Given the description of an element on the screen output the (x, y) to click on. 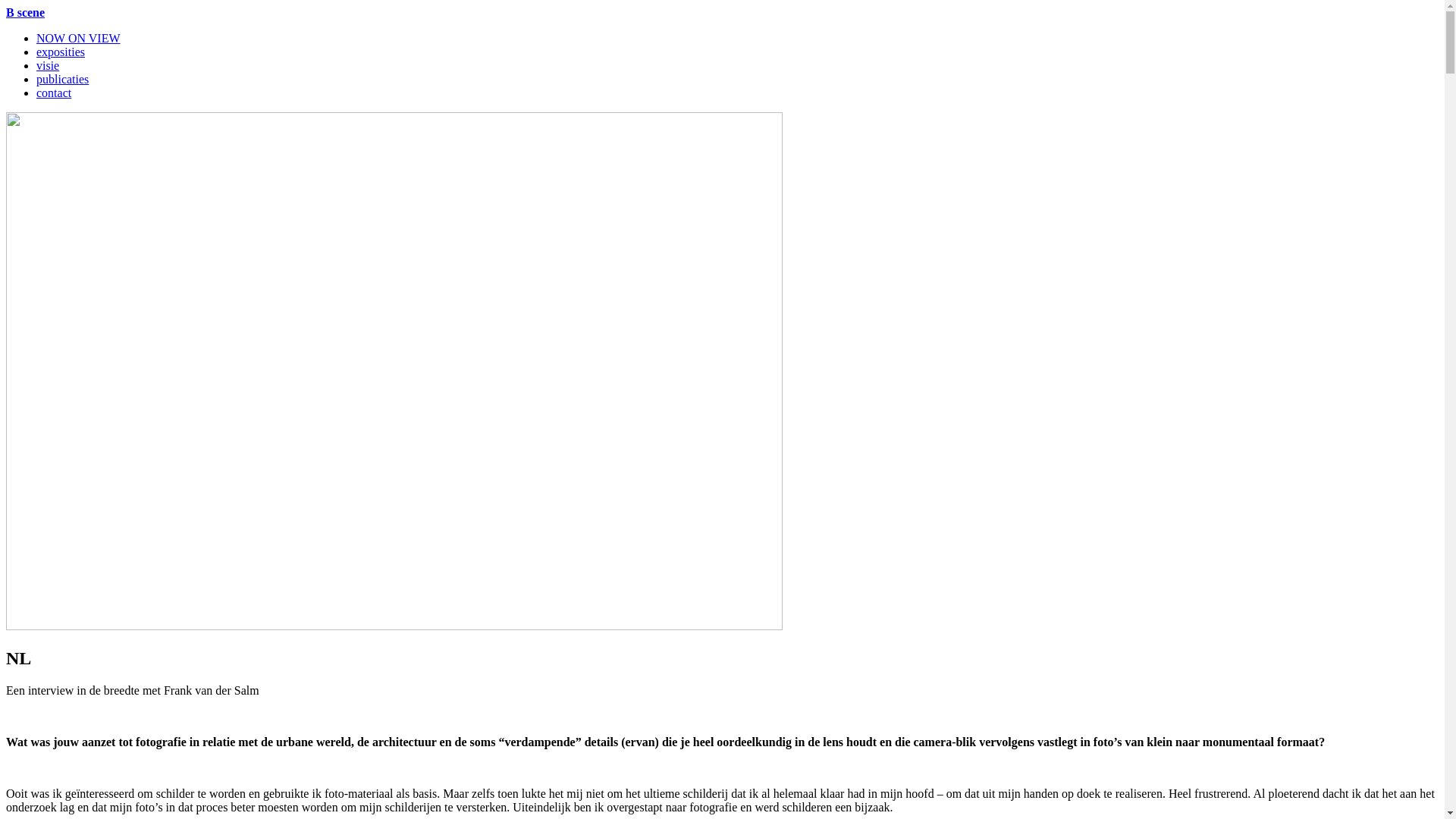
visie Element type: text (47, 65)
B scene Element type: text (25, 12)
exposities Element type: text (60, 51)
contact Element type: text (53, 92)
NOW ON VIEW Element type: text (78, 37)
publicaties Element type: text (62, 78)
